Given the description of an element on the screen output the (x, y) to click on. 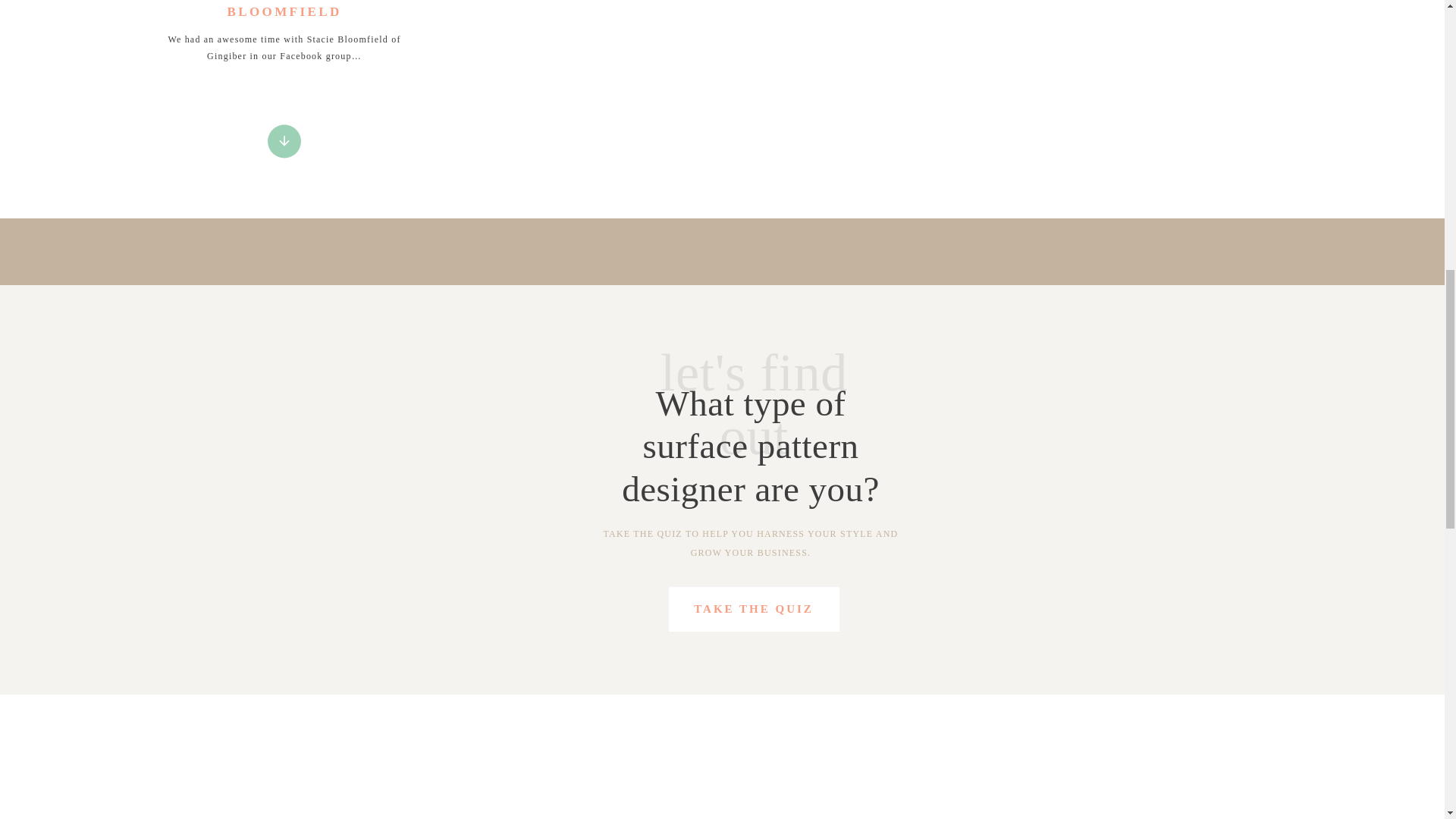
TAKE THE QUIZ (753, 608)
